Given the description of an element on the screen output the (x, y) to click on. 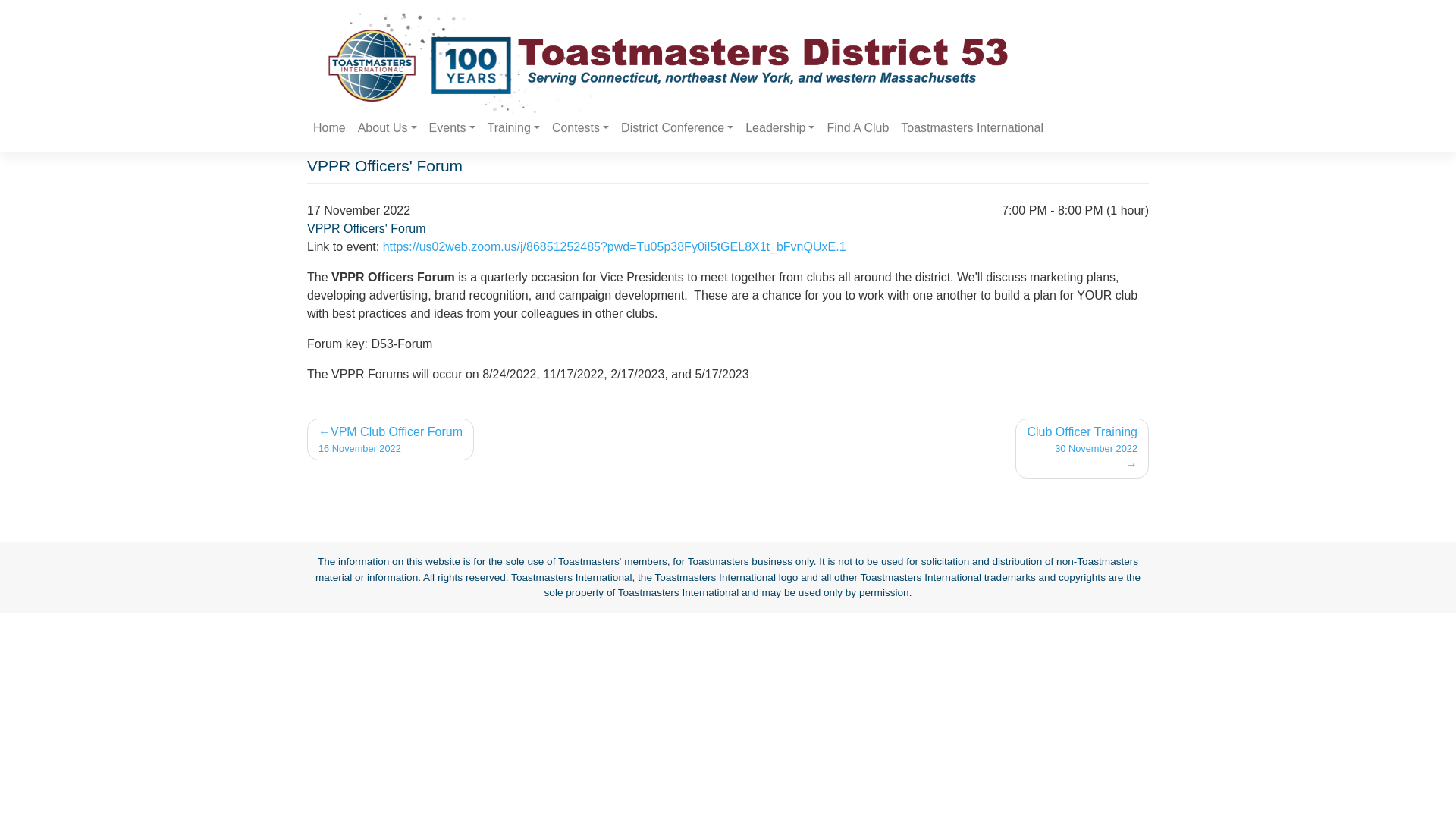
Contests (580, 128)
Events (452, 128)
About Us (387, 128)
Home (329, 128)
Find A Club (390, 439)
District Conference (1081, 448)
Contests (858, 128)
Training (676, 128)
Leadership (580, 128)
Events (513, 128)
About Us (780, 128)
Home (452, 128)
Toastmasters International (387, 128)
